Given the description of an element on the screen output the (x, y) to click on. 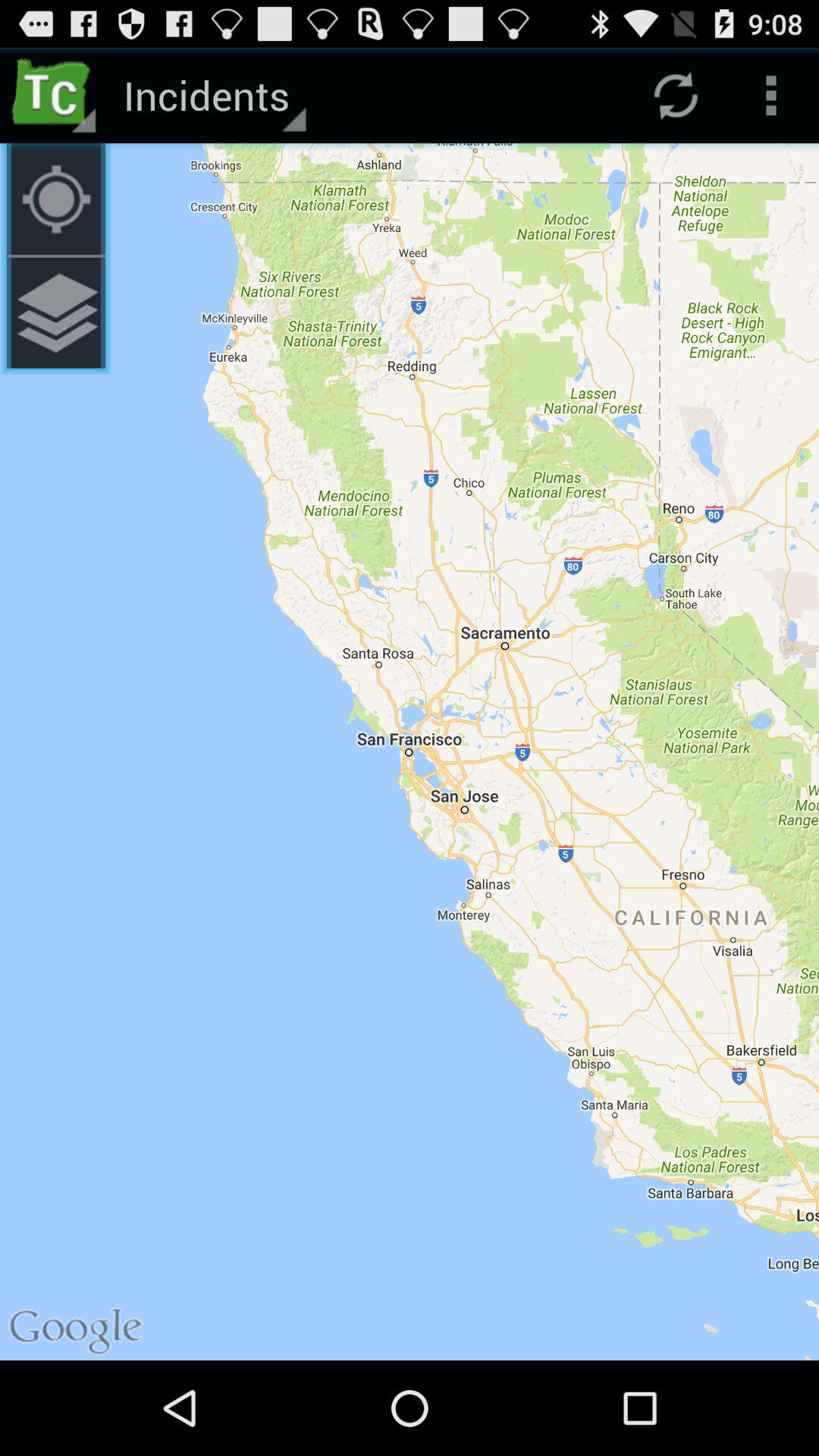
tap the app next to the incidents (55, 95)
